Given the description of an element on the screen output the (x, y) to click on. 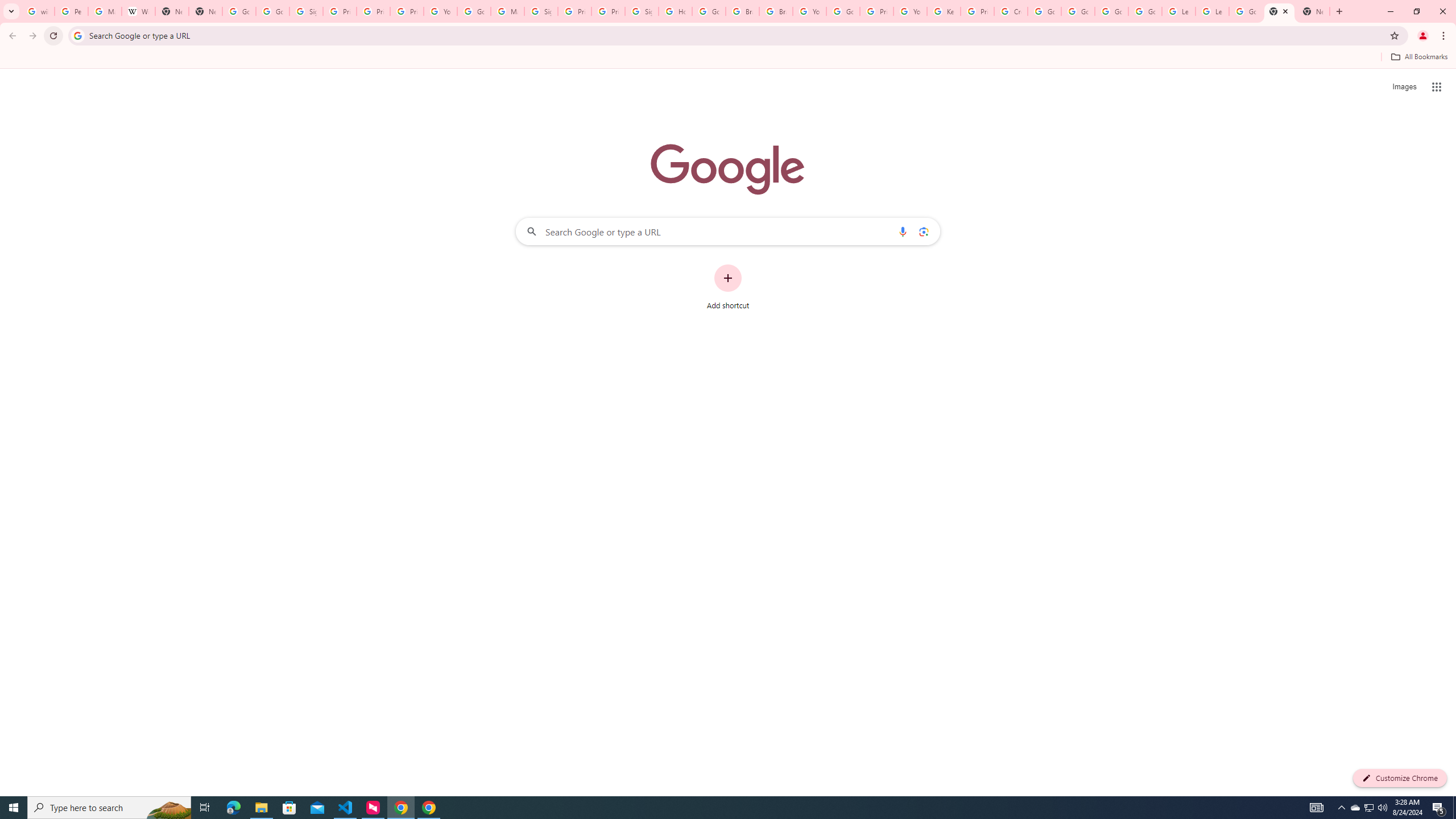
Sign in - Google Accounts (541, 11)
Search Google or type a URL (727, 230)
YouTube (441, 11)
Google Account Help (1043, 11)
New Tab (1279, 11)
New Tab (1313, 11)
